Given the description of an element on the screen output the (x, y) to click on. 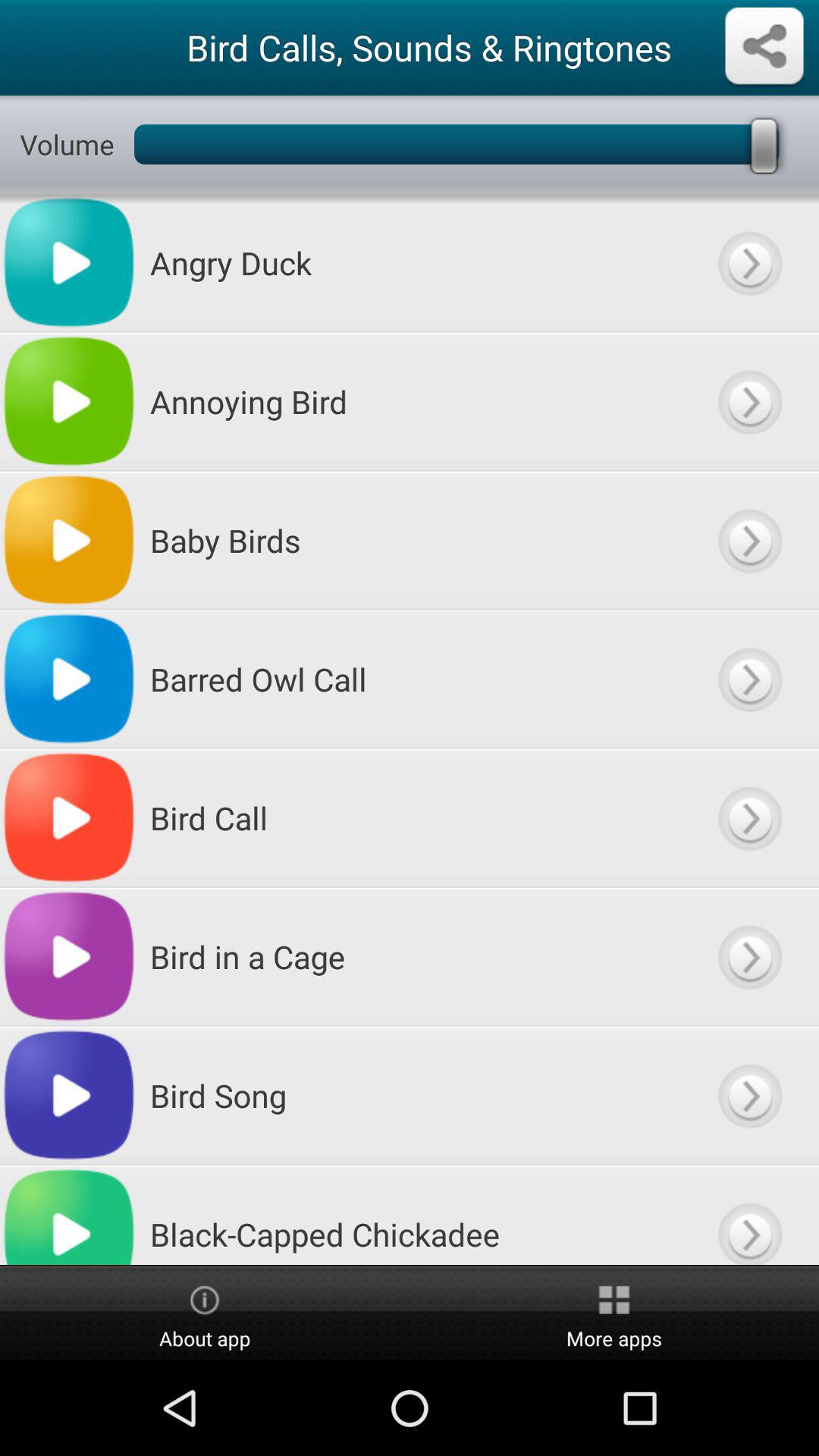
listen annoying bird (749, 401)
